Given the description of an element on the screen output the (x, y) to click on. 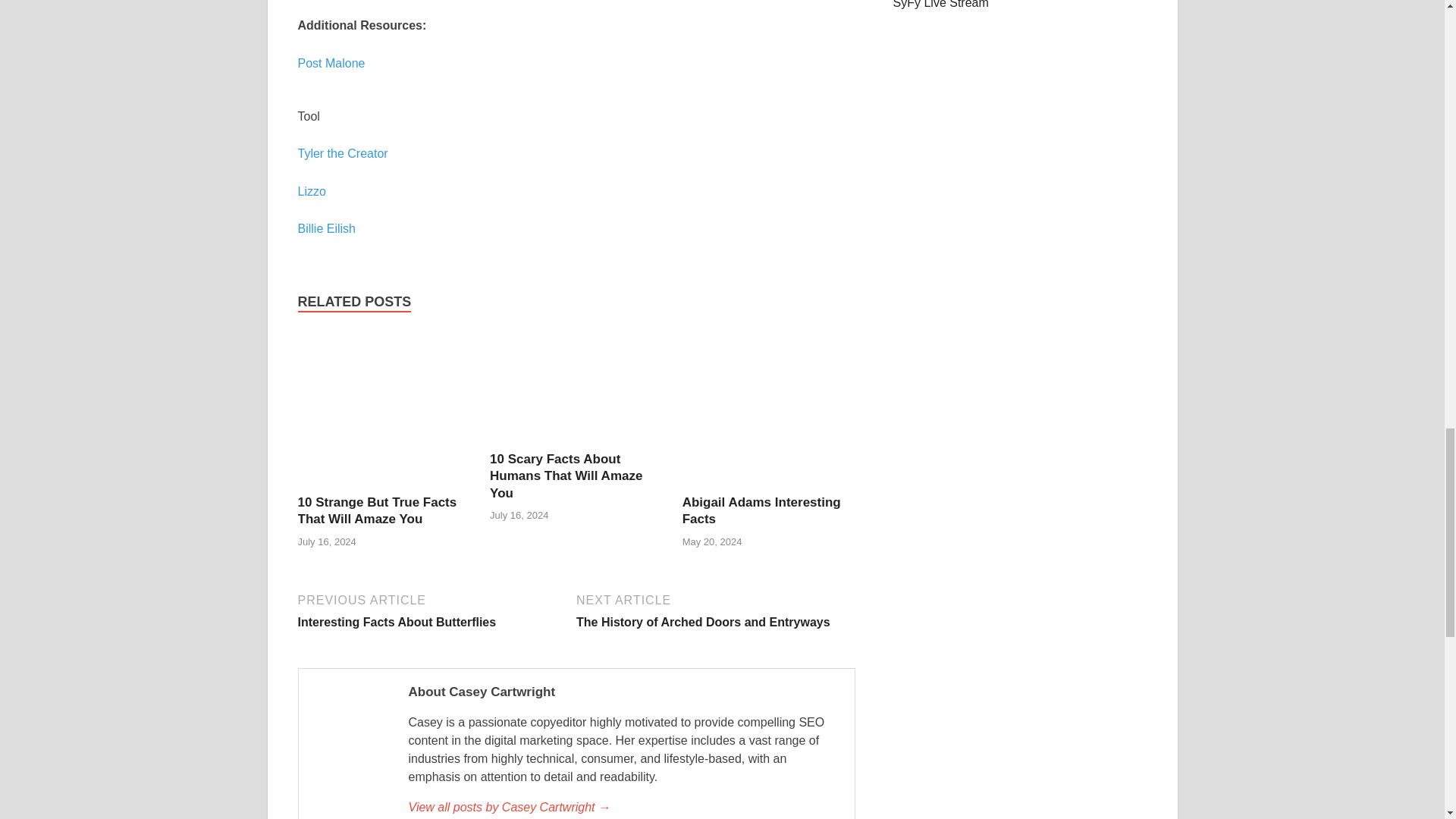
Abigail Adams Interesting Facts (434, 609)
10 Scary Facts About Humans That Will Amaze You (761, 510)
Abigail Adams Interesting Facts (565, 475)
Tyler the Creator (761, 510)
10 Scary Facts About Humans That Will Amaze You (342, 153)
10 Scary Facts About Humans That Will Amaze You (575, 440)
10 Strange But True Facts That Will Amaze You (565, 475)
Abigail Adams Interesting Facts (377, 510)
Lizzo (769, 484)
10 Strange But True Facts That Will Amaze You (310, 191)
Post Malone (383, 484)
Casey Cartwright (331, 62)
Billie Eilish (622, 807)
